Given the description of an element on the screen output the (x, y) to click on. 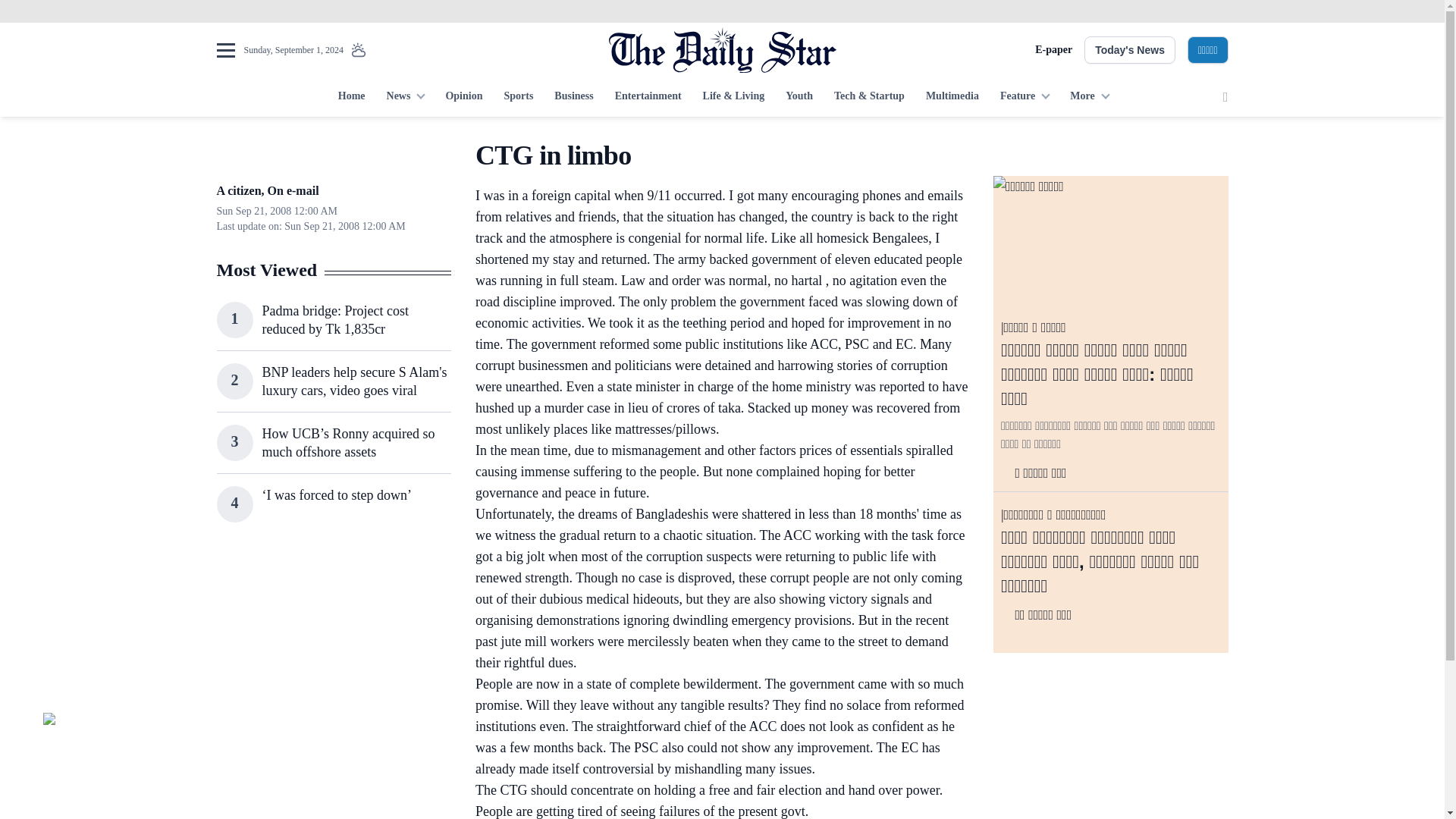
E-paper (1053, 49)
Today's News (1129, 49)
Feature (1024, 96)
Business (573, 96)
News (405, 96)
Multimedia (952, 96)
Sports (518, 96)
Home (351, 96)
Entertainment (647, 96)
